Given the description of an element on the screen output the (x, y) to click on. 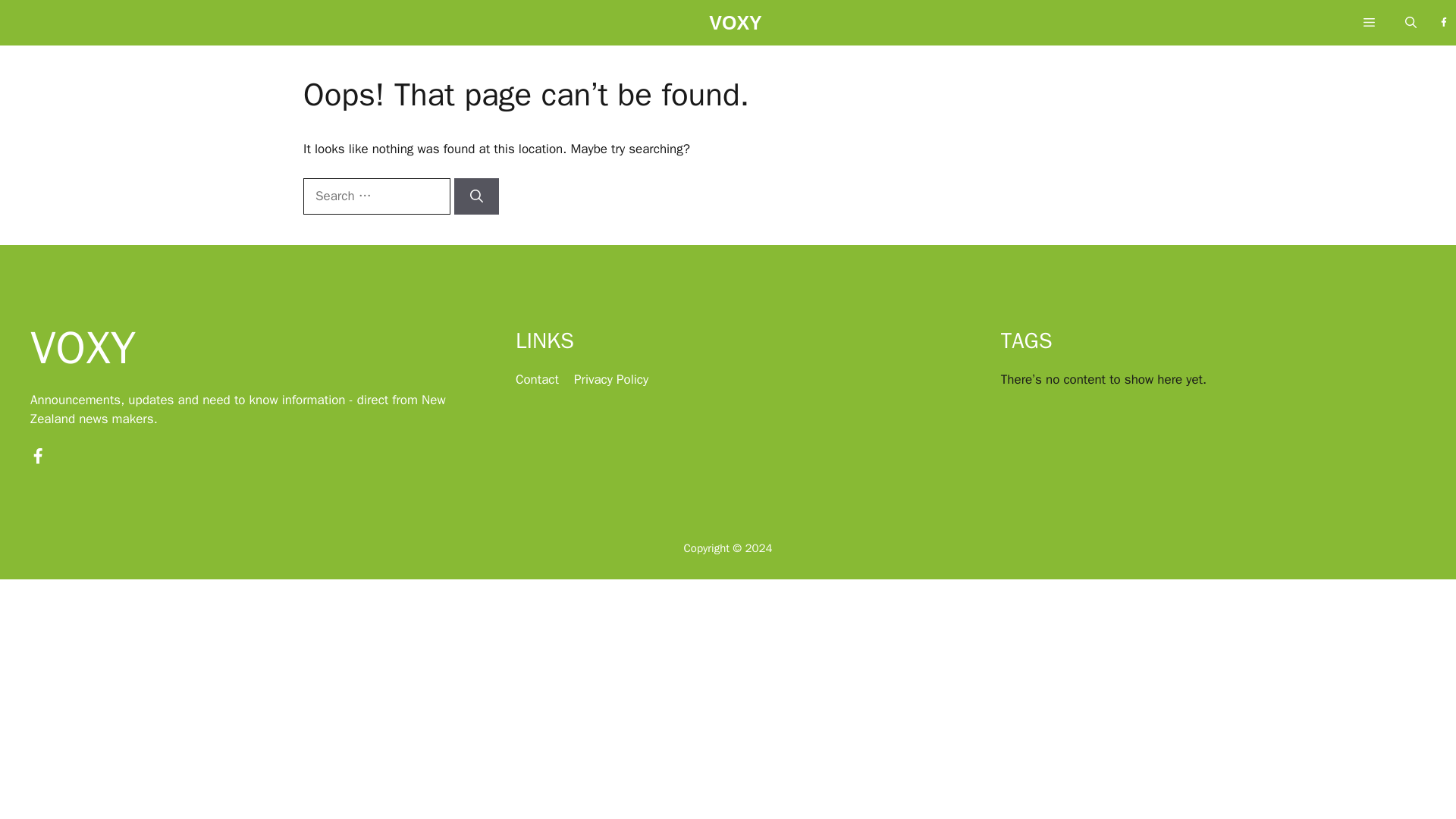
Contact (537, 379)
Privacy Policy (610, 379)
Search for: (375, 196)
VOXY (735, 26)
